Given the description of an element on the screen output the (x, y) to click on. 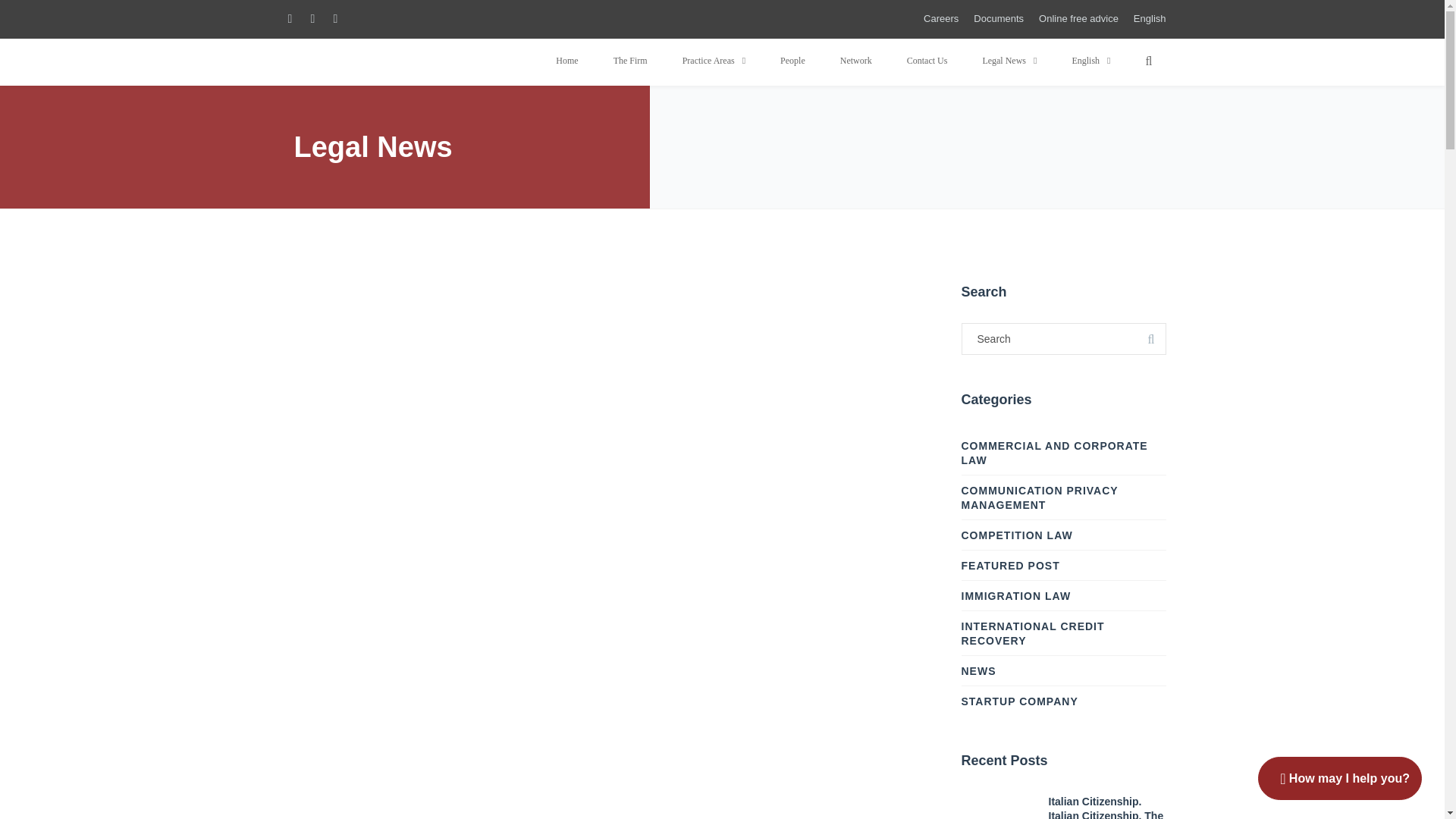
Documents (998, 18)
English (1150, 18)
Contact Us (927, 61)
The Firm (630, 61)
Home (566, 61)
Legal News (1008, 61)
Careers (940, 18)
English (1090, 61)
People (792, 61)
Practice Areas (713, 61)
